Given the description of an element on the screen output the (x, y) to click on. 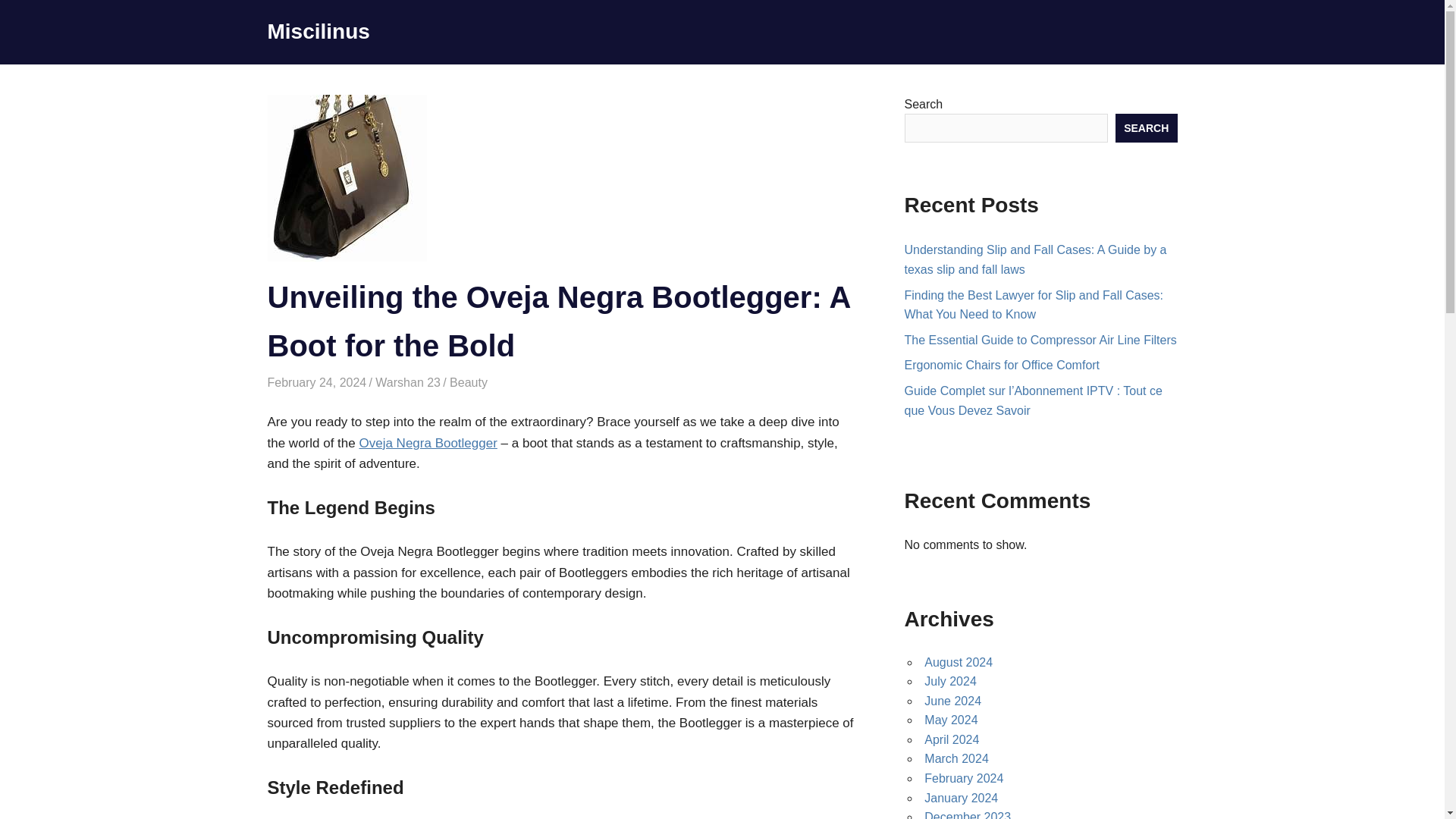
August 2024 (958, 662)
Warshan 23 (408, 382)
Oveja Negra Bootlegger (427, 442)
March 2024 (956, 758)
December 2023 (967, 814)
Ergonomic Chairs for Office Comfort (1001, 364)
6:04 am (316, 382)
July 2024 (950, 680)
February 24, 2024 (316, 382)
The Essential Guide to Compressor Air Line Filters (1040, 339)
View all posts by Warshan 23 (408, 382)
February 2024 (963, 778)
SEARCH (1146, 127)
Miscilinus (317, 31)
